Given the description of an element on the screen output the (x, y) to click on. 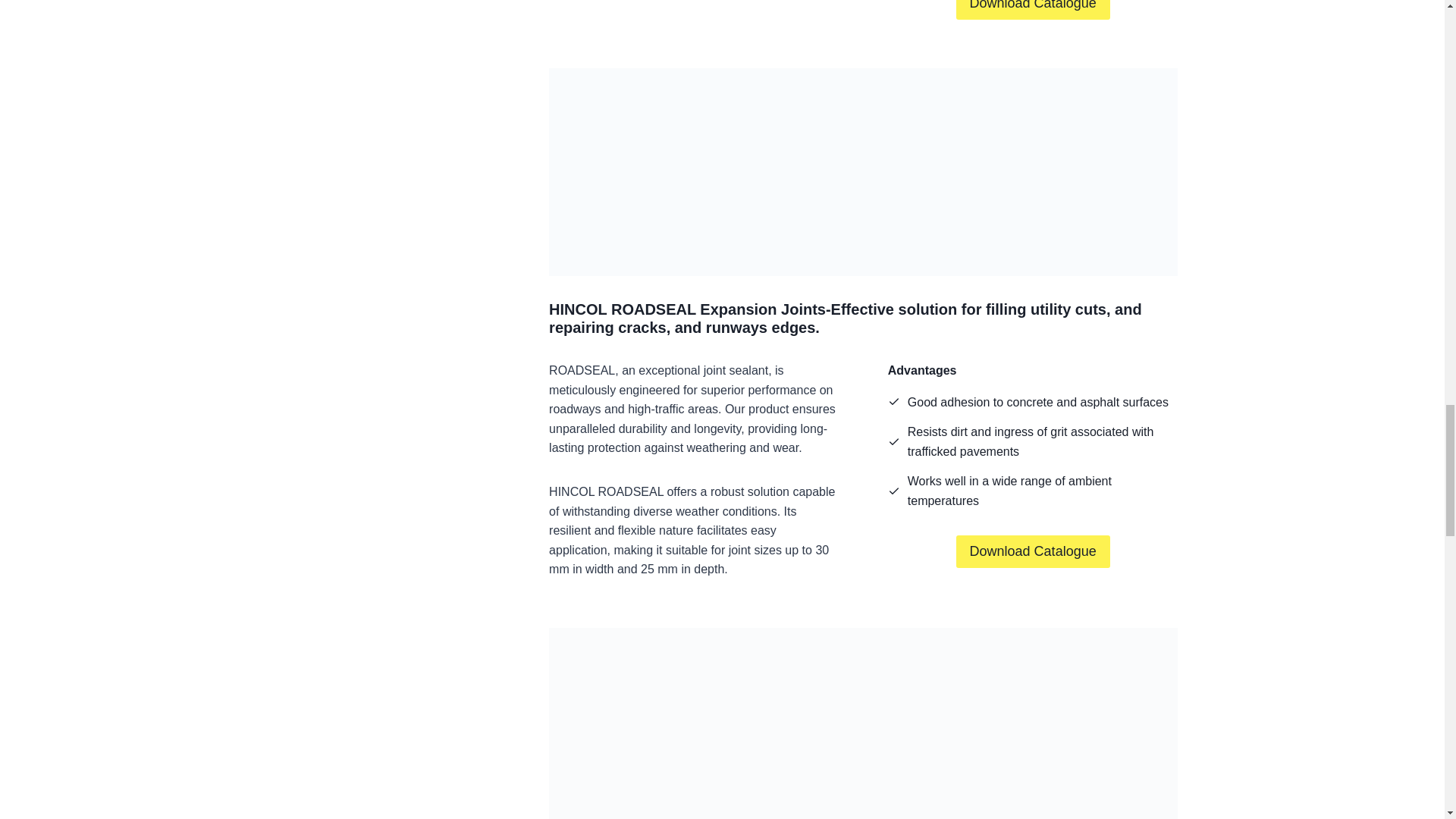
Download Catalogue (1032, 9)
